Given the description of an element on the screen output the (x, y) to click on. 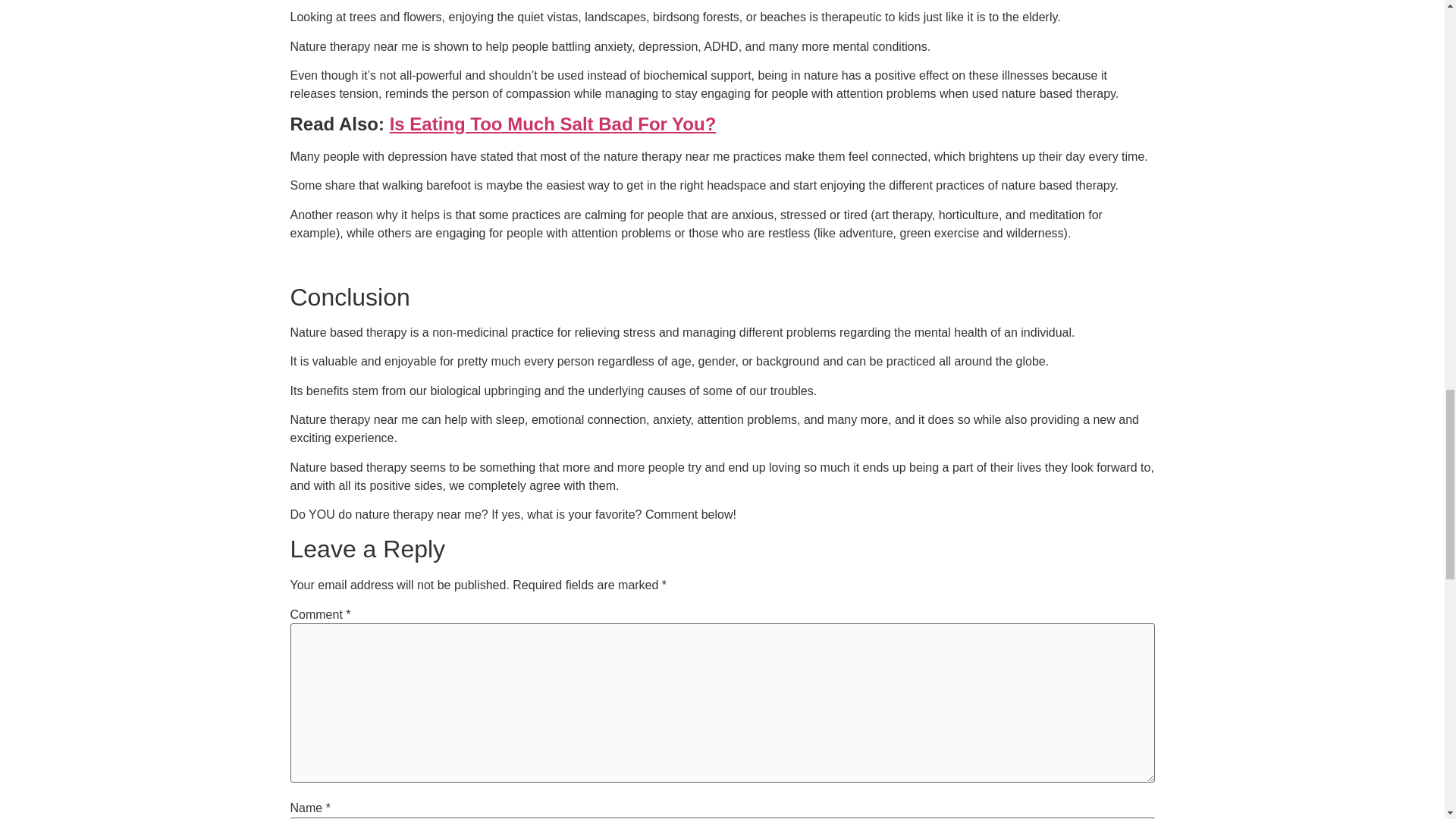
Is Eating Too Much Salt Bad For You? (553, 123)
